Given the description of an element on the screen output the (x, y) to click on. 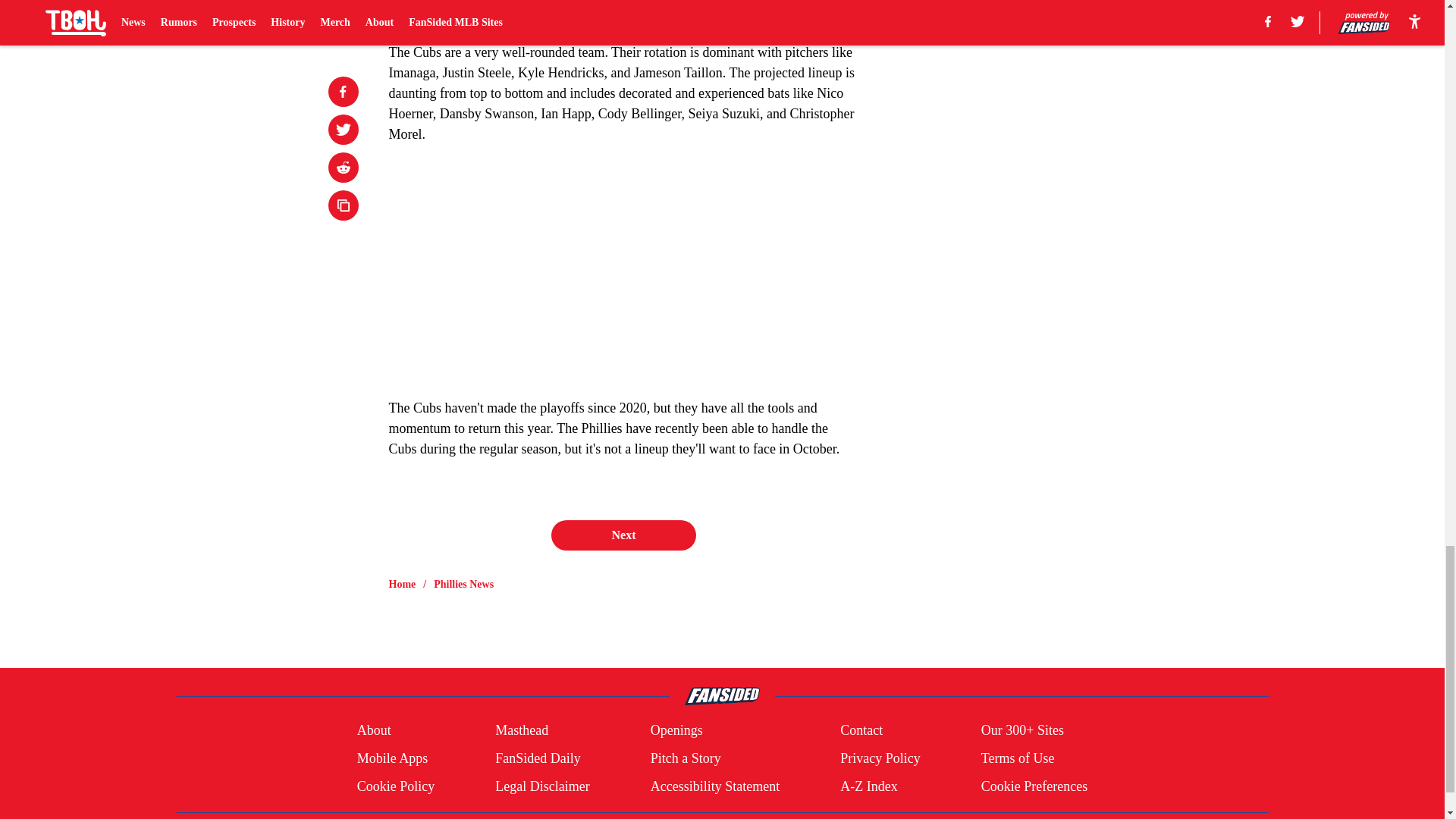
Pitch a Story (685, 758)
Phillies News (463, 584)
Next (622, 535)
Home (401, 584)
FanSided Daily (537, 758)
About (373, 730)
Mobile Apps (392, 758)
Privacy Policy (880, 758)
Contact (861, 730)
Terms of Use (1017, 758)
Openings (676, 730)
Legal Disclaimer (542, 786)
Masthead (521, 730)
Cookie Policy (395, 786)
